Given the description of an element on the screen output the (x, y) to click on. 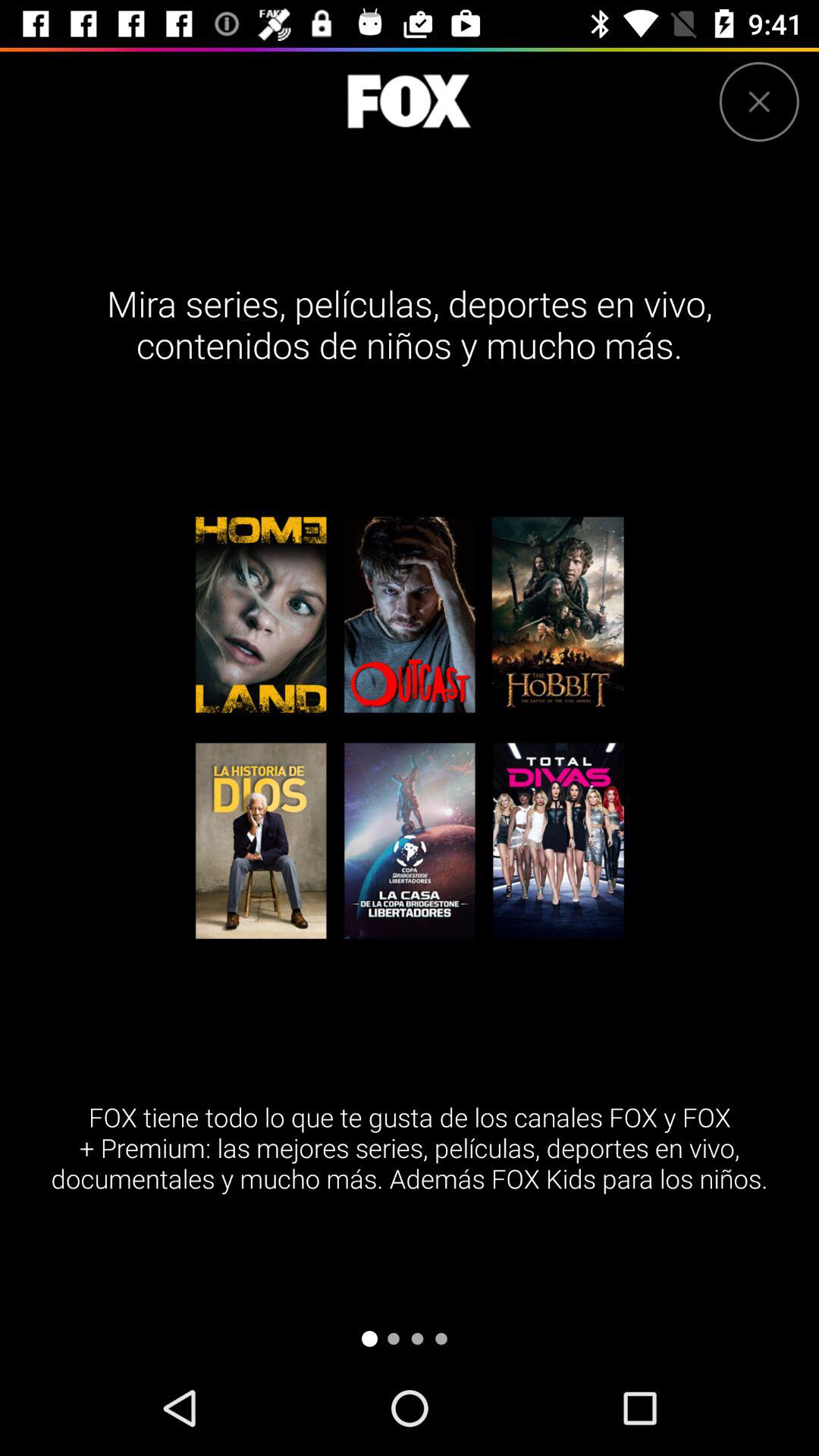
turn on the item at the top right corner (759, 101)
